Given the description of an element on the screen output the (x, y) to click on. 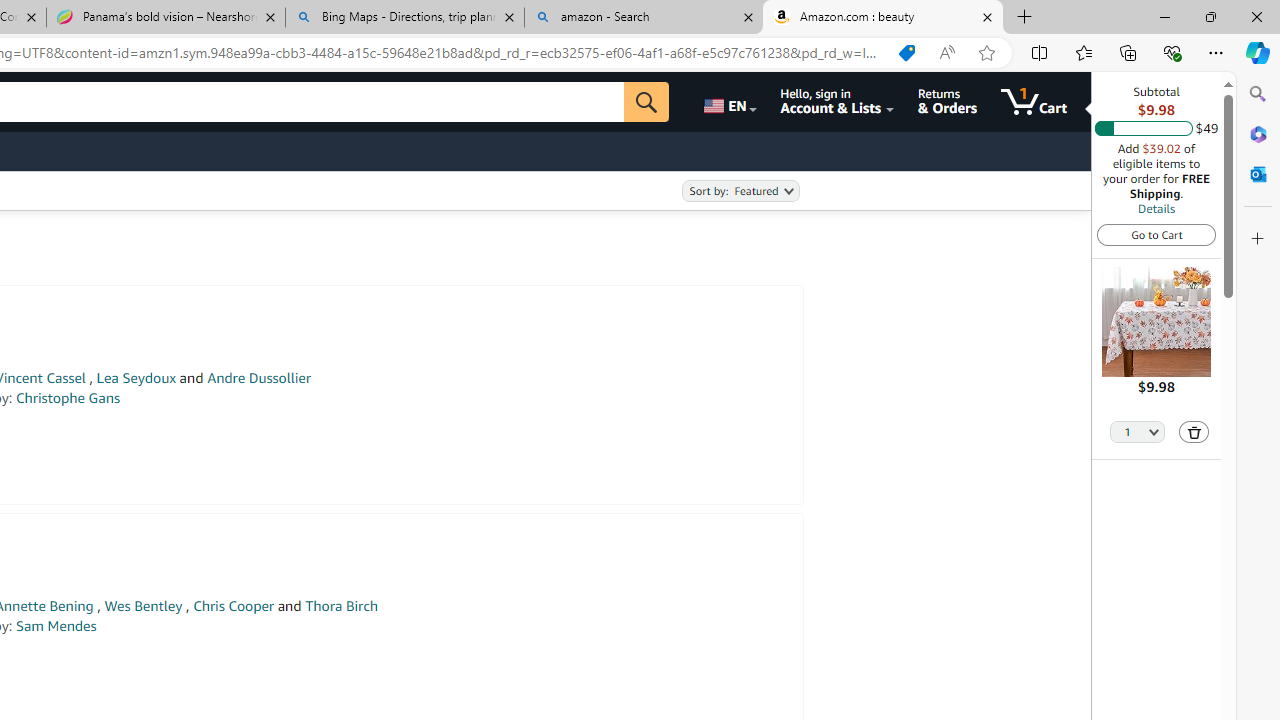
Christophe Gans (67, 398)
Thora Birch (340, 606)
Sort by: (740, 191)
Delete (1193, 431)
amazon - Search (643, 17)
